Given the description of an element on the screen output the (x, y) to click on. 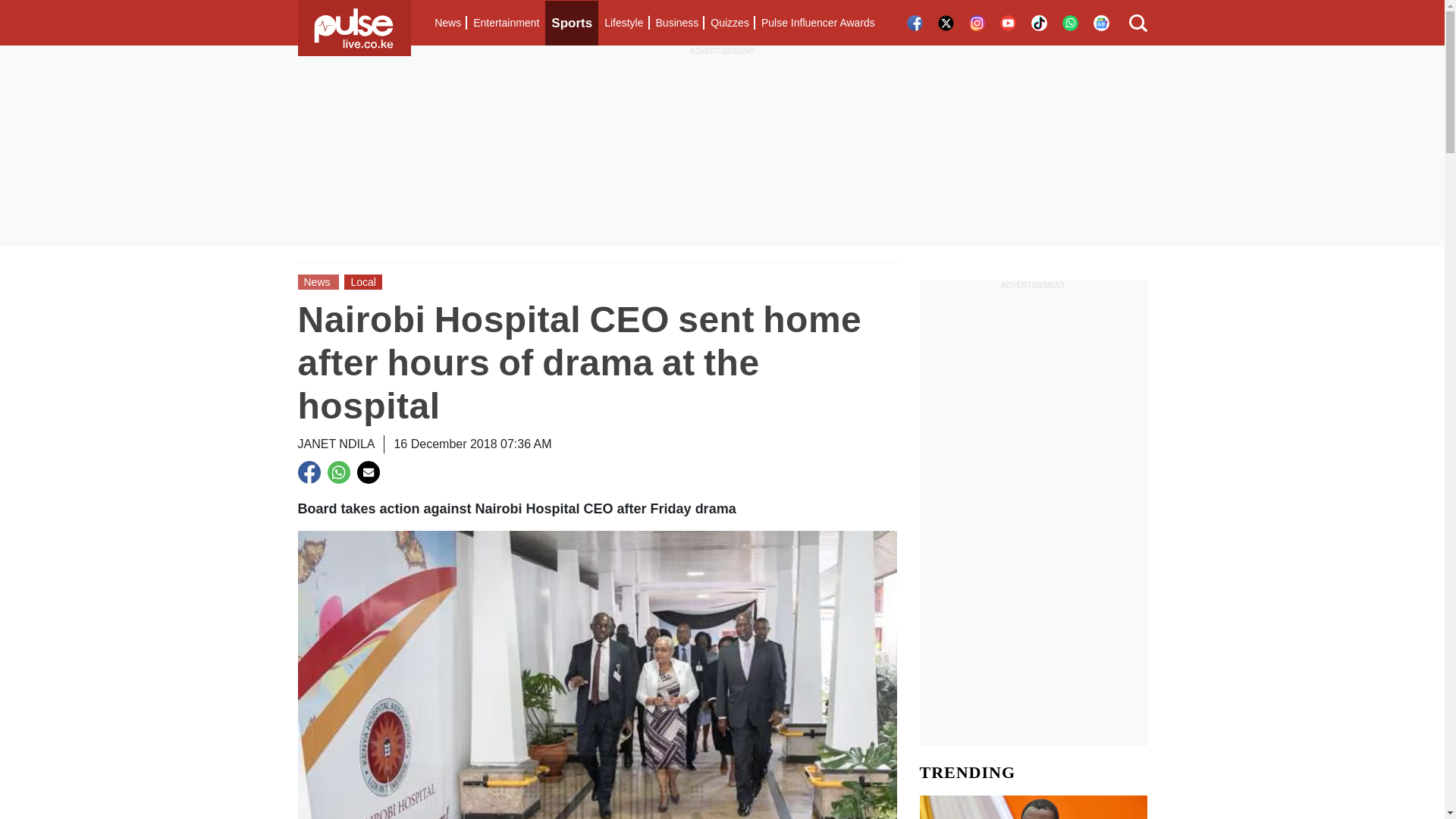
Entertainment (505, 22)
Business (676, 22)
Sports (571, 22)
Pulse Influencer Awards (817, 22)
Lifestyle (623, 22)
Quizzes (729, 22)
